Given the description of an element on the screen output the (x, y) to click on. 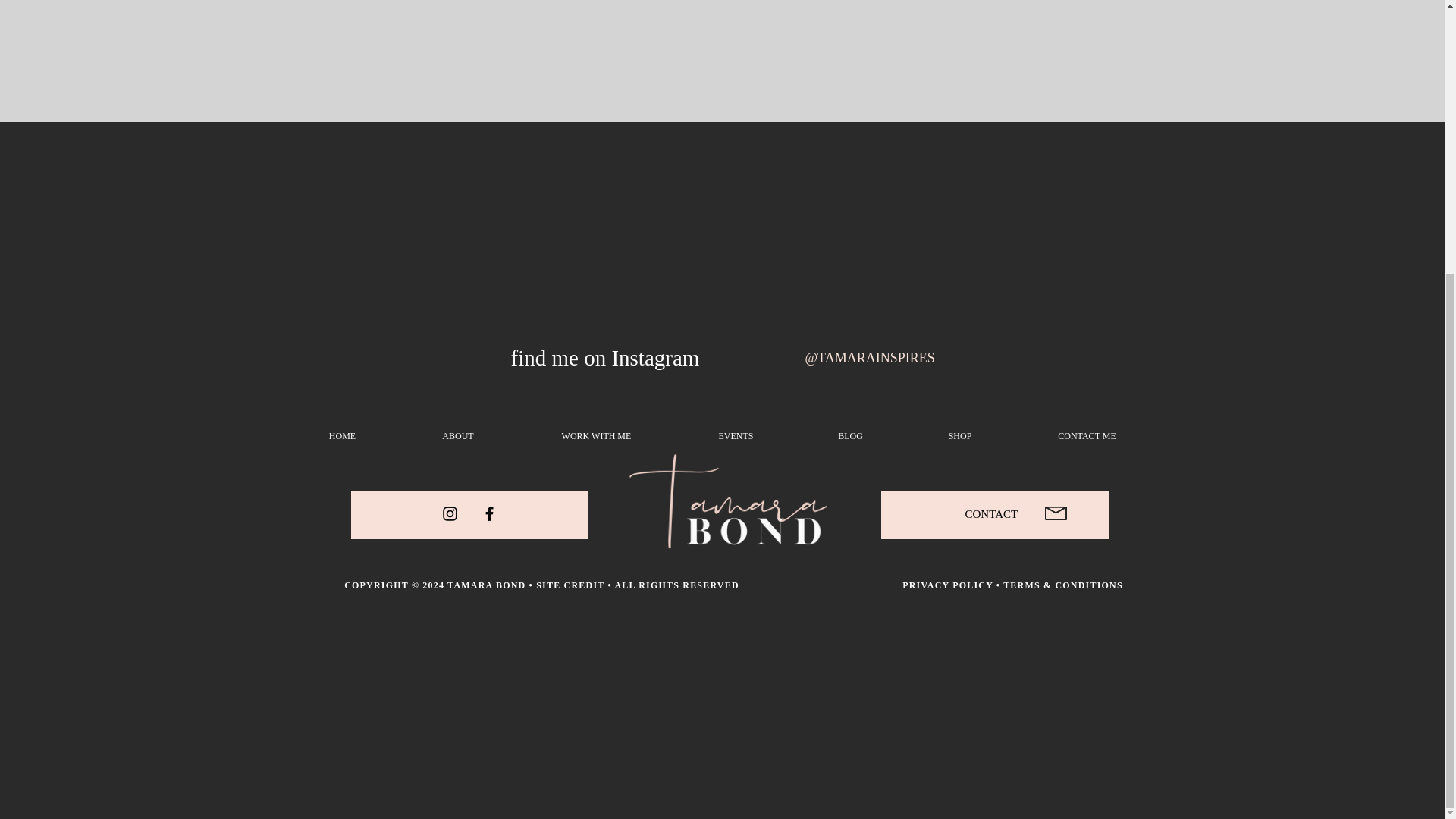
SITE CREDIT (569, 584)
CONTACT (990, 513)
ABOUT (457, 435)
BLOG (850, 435)
CONTACT ME (1086, 435)
SHOP (959, 435)
WORK WITH ME (596, 435)
EVENTS (736, 435)
HOME (341, 435)
